Given the description of an element on the screen output the (x, y) to click on. 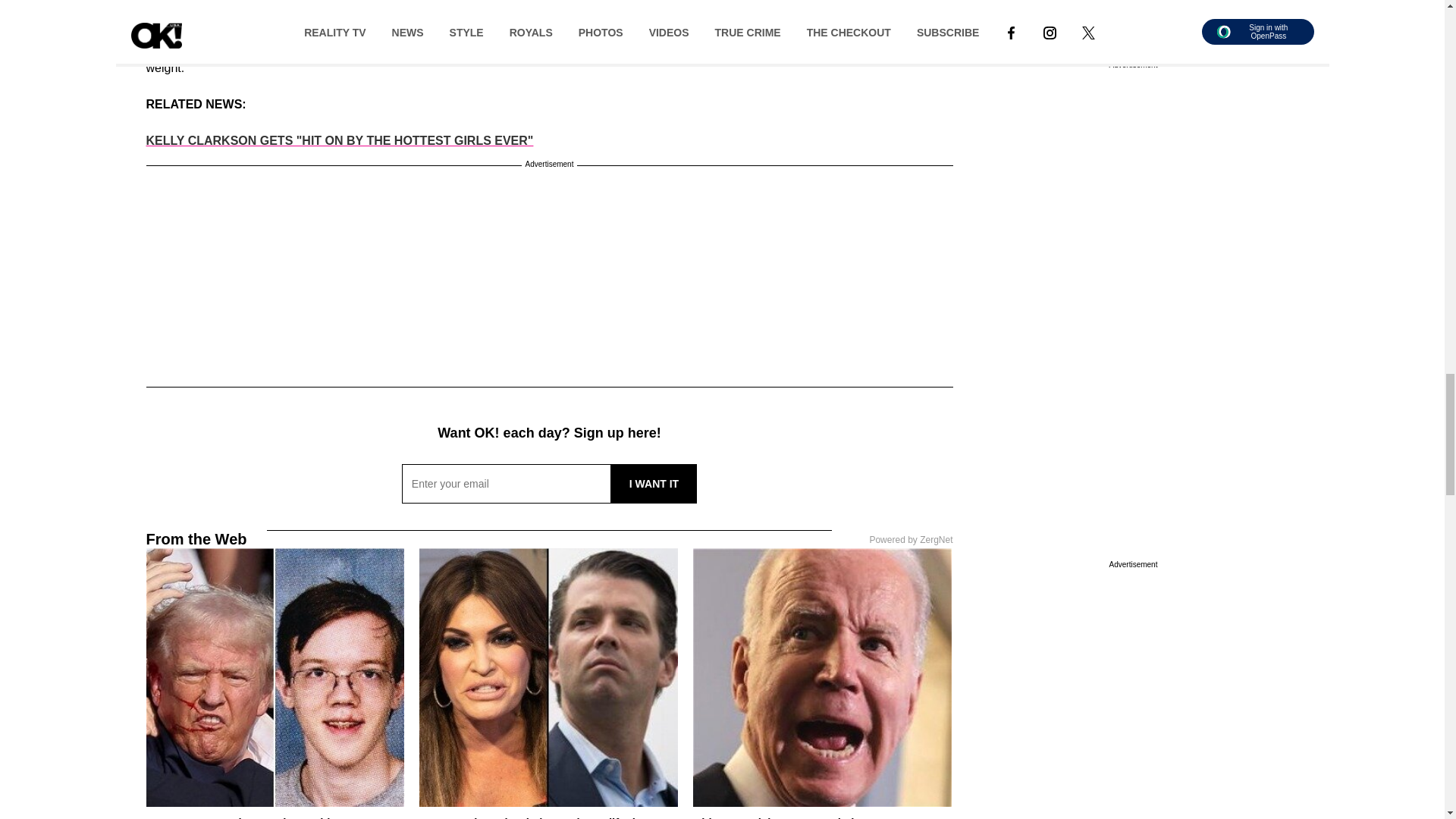
I WANT IT (654, 483)
